Given the description of an element on the screen output the (x, y) to click on. 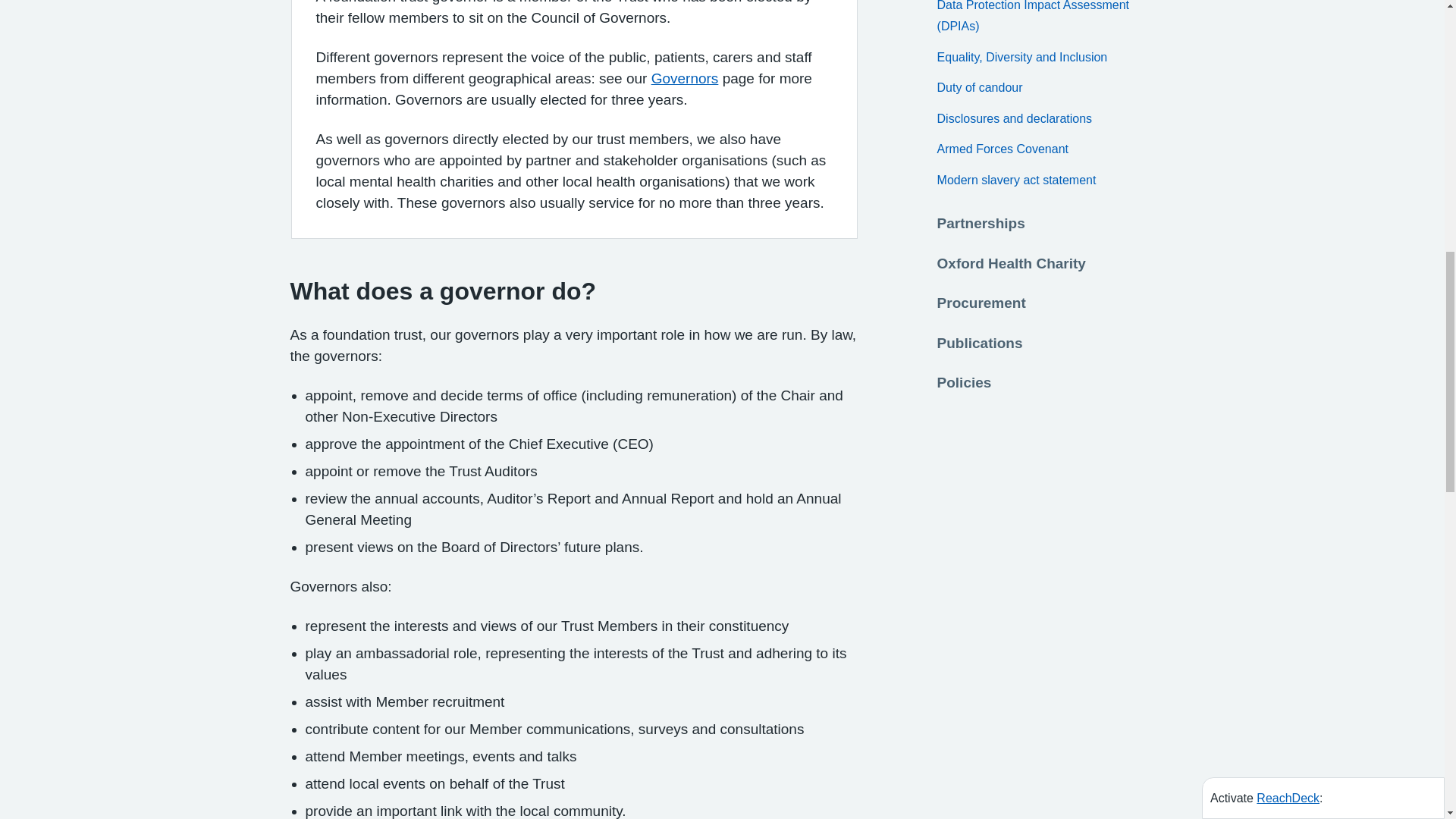
Governors (684, 78)
